Given the description of an element on the screen output the (x, y) to click on. 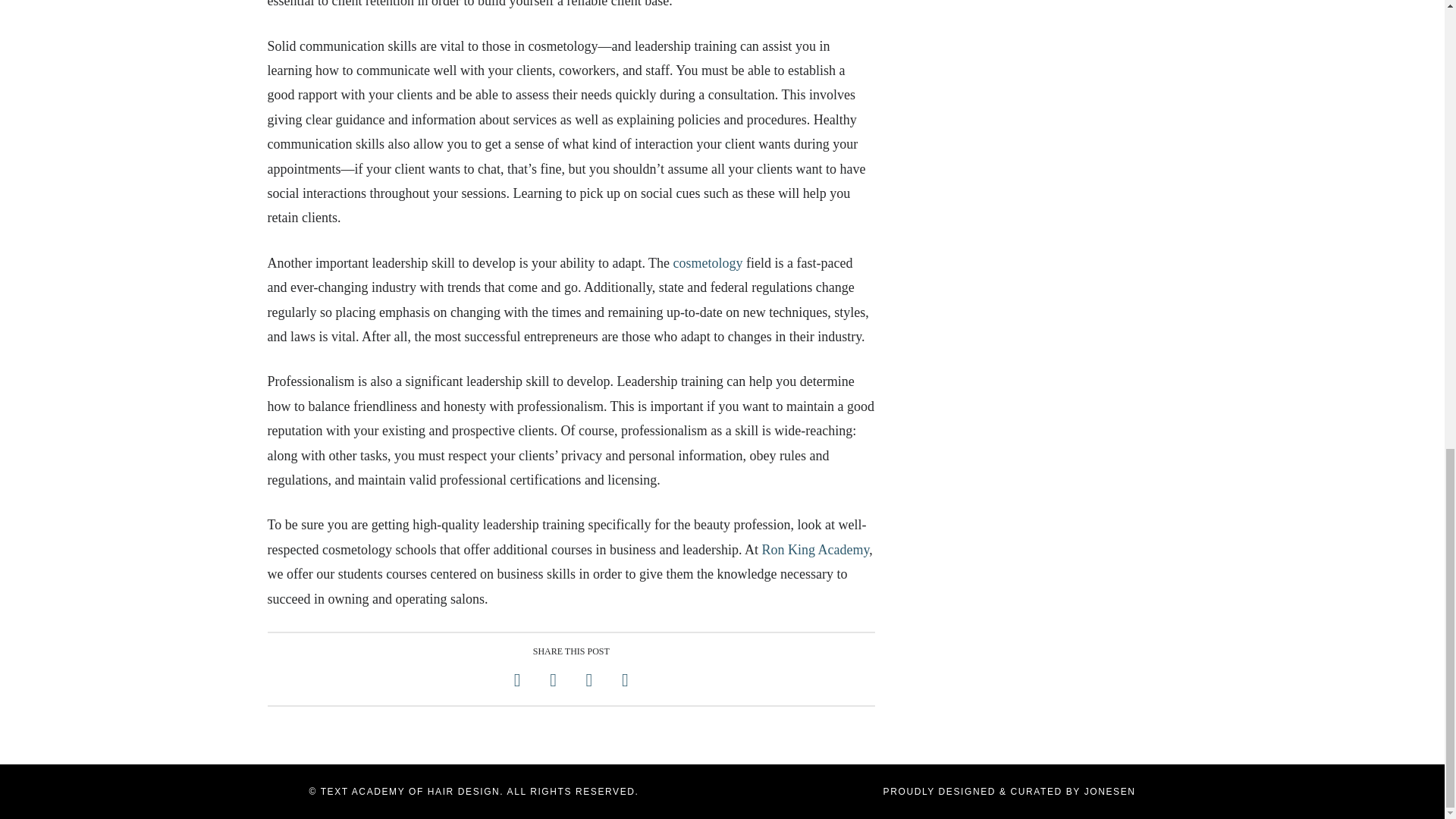
Share on Pinterest (588, 680)
cosmetology (707, 263)
Share on Twitter (552, 680)
Ron King Academy (815, 549)
Share on Facebook (517, 680)
JONESEN (1109, 791)
Share via Email (625, 680)
